Given the description of an element on the screen output the (x, y) to click on. 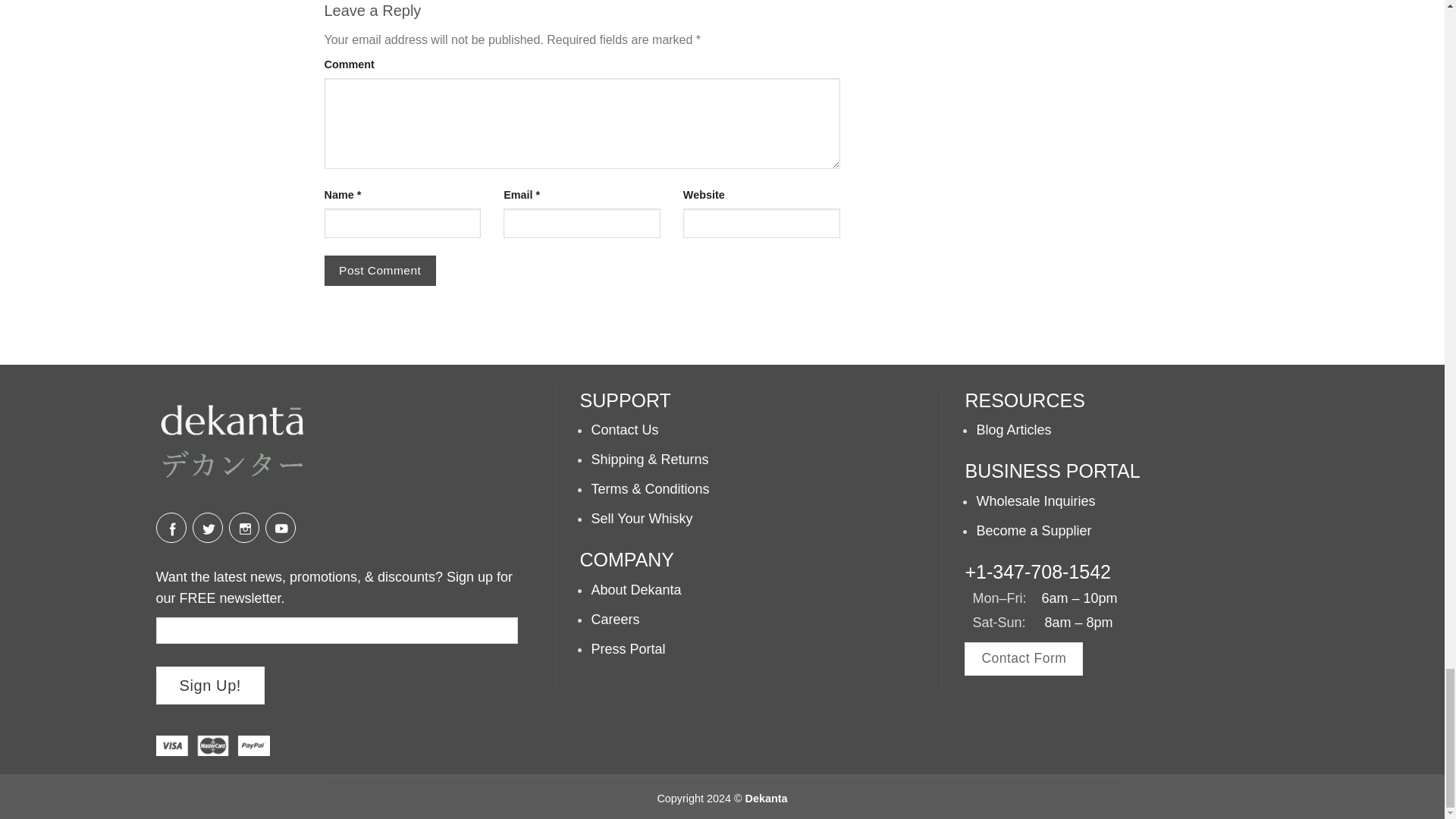
Post Comment (379, 270)
Sign Up! (209, 685)
